Given the description of an element on the screen output the (x, y) to click on. 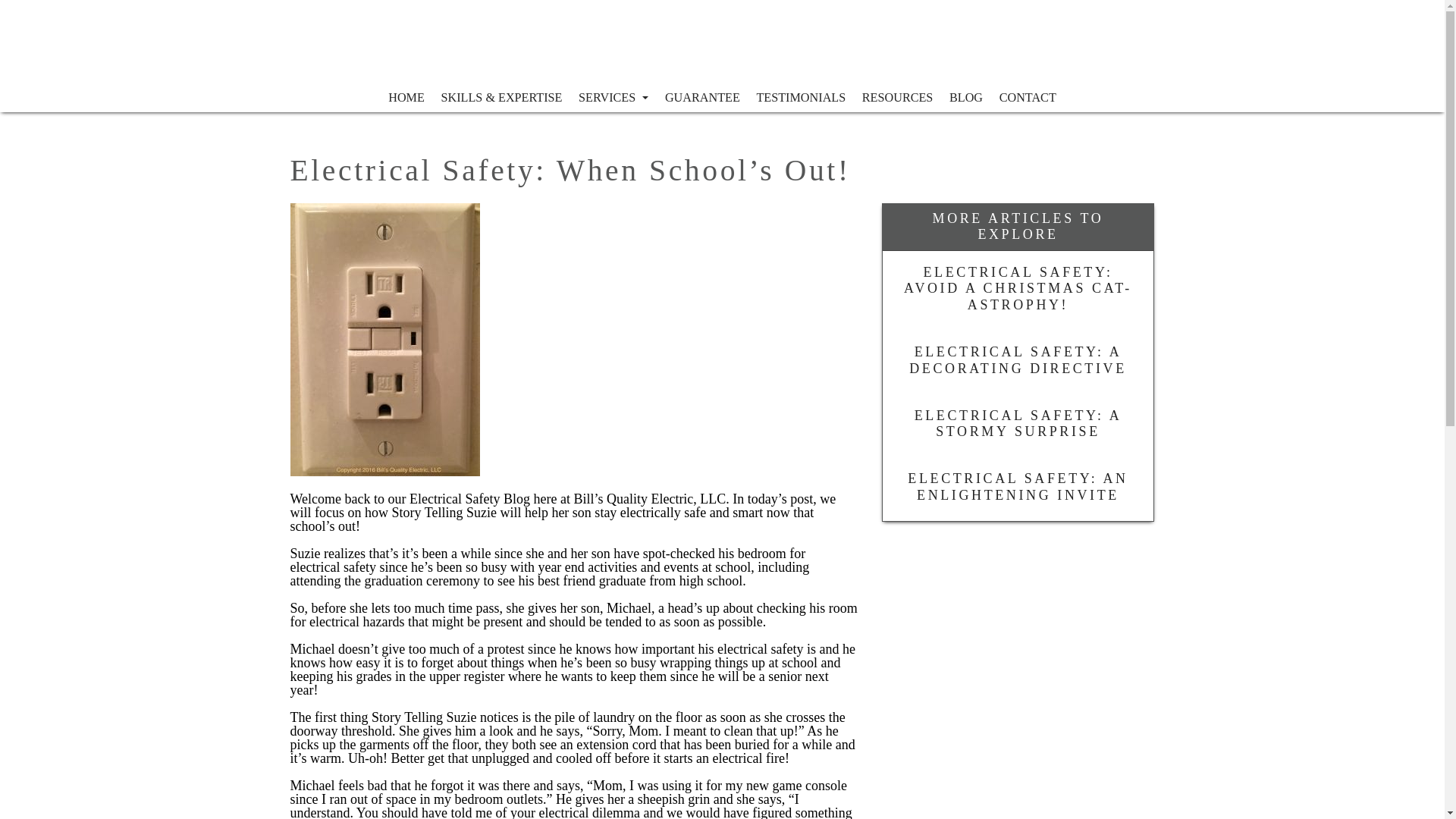
Blog (965, 98)
Home (406, 98)
CONTACT (1027, 98)
TESTIMONIALS (800, 98)
Services (613, 98)
BLOG (965, 98)
Guarantee (702, 98)
ELECTRICAL SAFETY: A DECORATING DIRECTIVE (1018, 361)
RESOURCES (896, 98)
ELECTRICAL SAFETY: A STORMY SURPRISE (1018, 425)
